Given the description of an element on the screen output the (x, y) to click on. 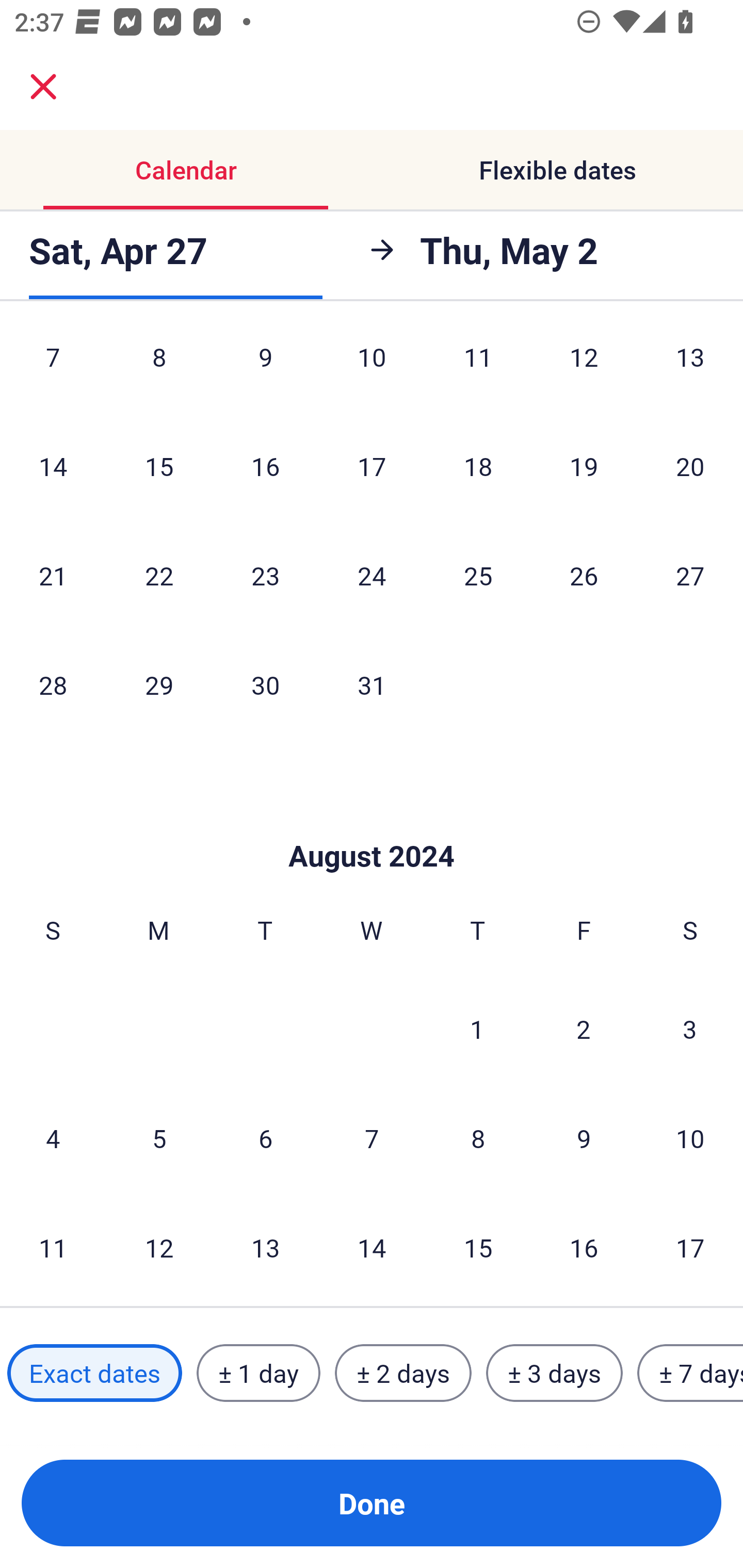
close. (43, 86)
Flexible dates (557, 170)
7 Sunday, July 7, 2024 (53, 369)
8 Monday, July 8, 2024 (159, 369)
9 Tuesday, July 9, 2024 (265, 369)
10 Wednesday, July 10, 2024 (371, 369)
11 Thursday, July 11, 2024 (477, 369)
12 Friday, July 12, 2024 (584, 369)
13 Saturday, July 13, 2024 (690, 369)
14 Sunday, July 14, 2024 (53, 465)
15 Monday, July 15, 2024 (159, 465)
16 Tuesday, July 16, 2024 (265, 465)
17 Wednesday, July 17, 2024 (371, 465)
18 Thursday, July 18, 2024 (477, 465)
19 Friday, July 19, 2024 (584, 465)
20 Saturday, July 20, 2024 (690, 465)
21 Sunday, July 21, 2024 (53, 575)
22 Monday, July 22, 2024 (159, 575)
23 Tuesday, July 23, 2024 (265, 575)
24 Wednesday, July 24, 2024 (371, 575)
25 Thursday, July 25, 2024 (477, 575)
26 Friday, July 26, 2024 (584, 575)
27 Saturday, July 27, 2024 (690, 575)
28 Sunday, July 28, 2024 (53, 683)
29 Monday, July 29, 2024 (159, 683)
30 Tuesday, July 30, 2024 (265, 683)
31 Wednesday, July 31, 2024 (371, 683)
Skip to Done (371, 825)
1 Thursday, August 1, 2024 (477, 1028)
2 Friday, August 2, 2024 (583, 1028)
3 Saturday, August 3, 2024 (689, 1028)
4 Sunday, August 4, 2024 (53, 1138)
5 Monday, August 5, 2024 (159, 1138)
6 Tuesday, August 6, 2024 (265, 1138)
7 Wednesday, August 7, 2024 (371, 1138)
8 Thursday, August 8, 2024 (477, 1138)
9 Friday, August 9, 2024 (584, 1138)
10 Saturday, August 10, 2024 (690, 1138)
11 Sunday, August 11, 2024 (53, 1246)
12 Monday, August 12, 2024 (159, 1246)
13 Tuesday, August 13, 2024 (265, 1246)
14 Wednesday, August 14, 2024 (371, 1246)
15 Thursday, August 15, 2024 (477, 1246)
16 Friday, August 16, 2024 (584, 1246)
17 Saturday, August 17, 2024 (690, 1246)
Exact dates (94, 1372)
± 1 day (258, 1372)
± 2 days (403, 1372)
± 3 days (553, 1372)
± 7 days (690, 1372)
